Given the description of an element on the screen output the (x, y) to click on. 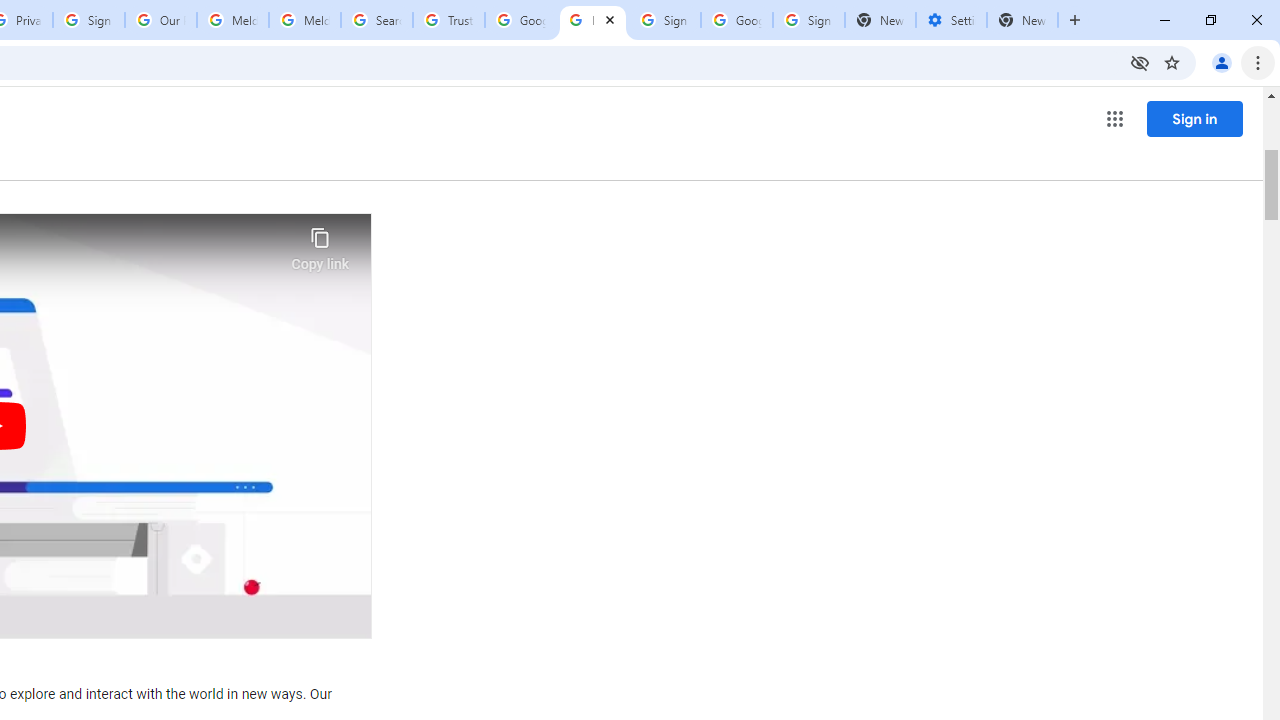
Google Ads - Sign in (520, 20)
Settings - Addresses and more (951, 20)
Google Cybersecurity Innovations - Google Safety Center (737, 20)
Trusted Information and Content - Google Safety Center (449, 20)
